Given the description of an element on the screen output the (x, y) to click on. 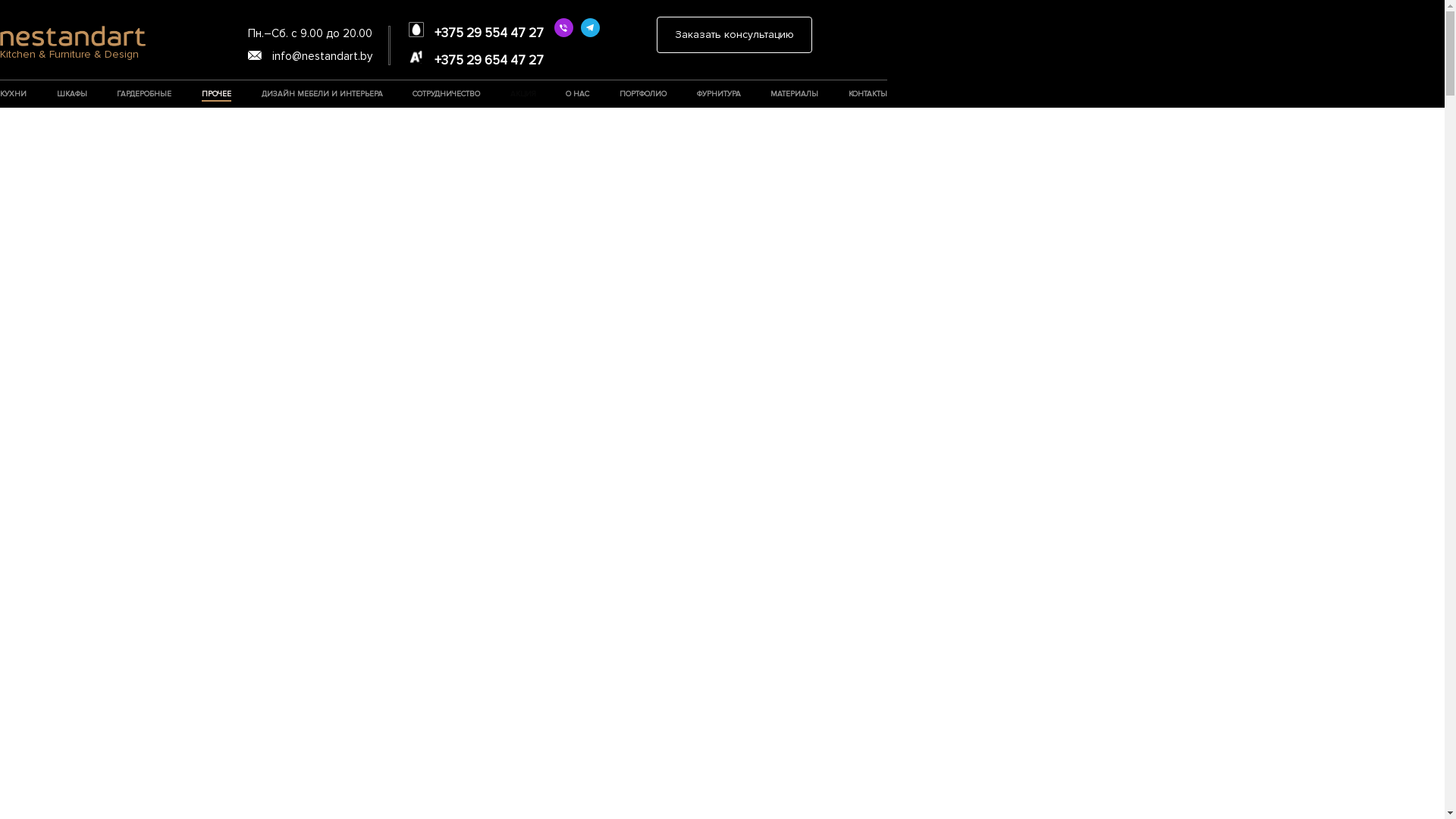
+375 29 654 47 27 Element type: text (475, 59)
+375 29 554 47 27 Element type: text (475, 31)
Kitchen & Furniture & Design Element type: text (72, 43)
info@nestandart.by Element type: text (309, 55)
